Given the description of an element on the screen output the (x, y) to click on. 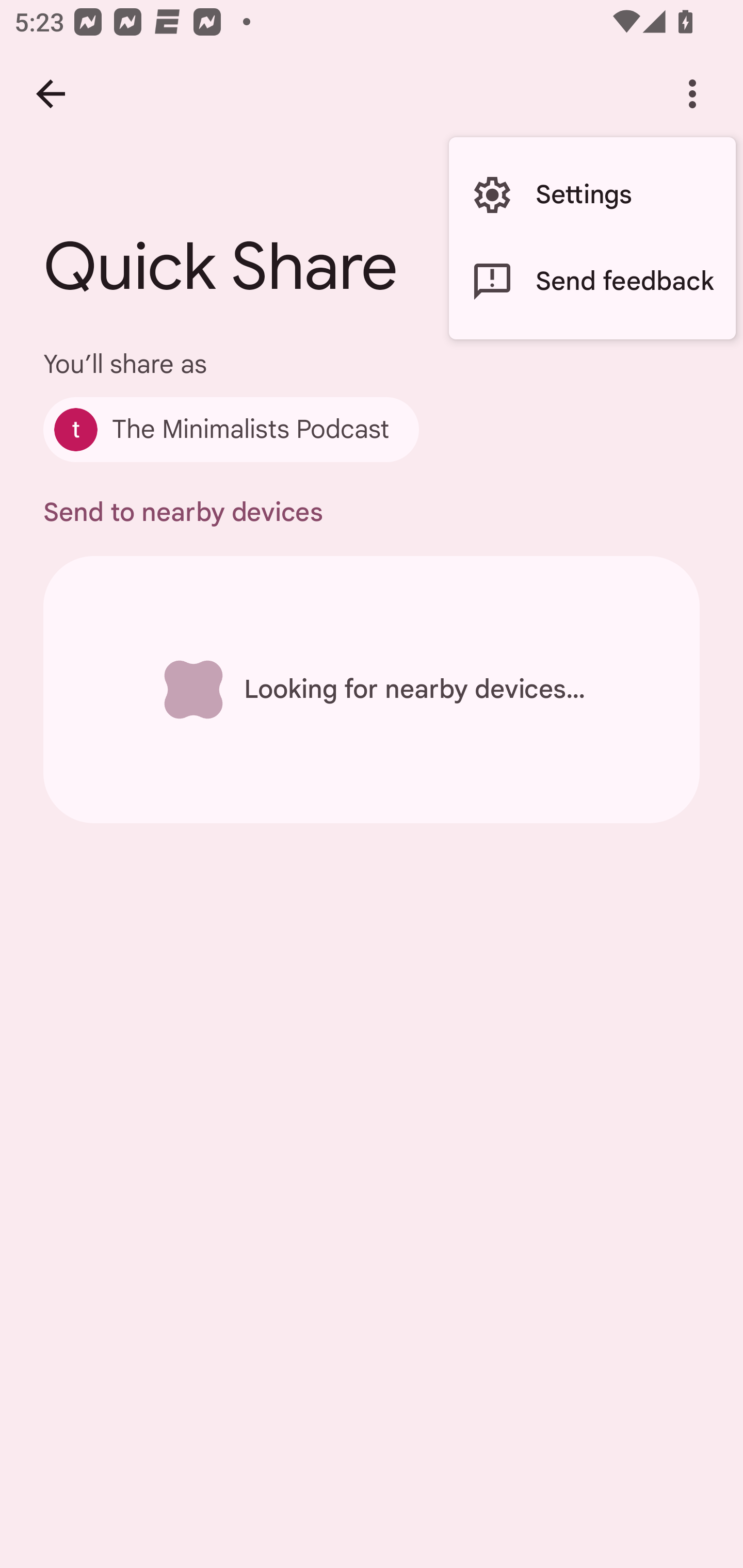
Settings (591, 195)
Send feedback (591, 281)
